Given the description of an element on the screen output the (x, y) to click on. 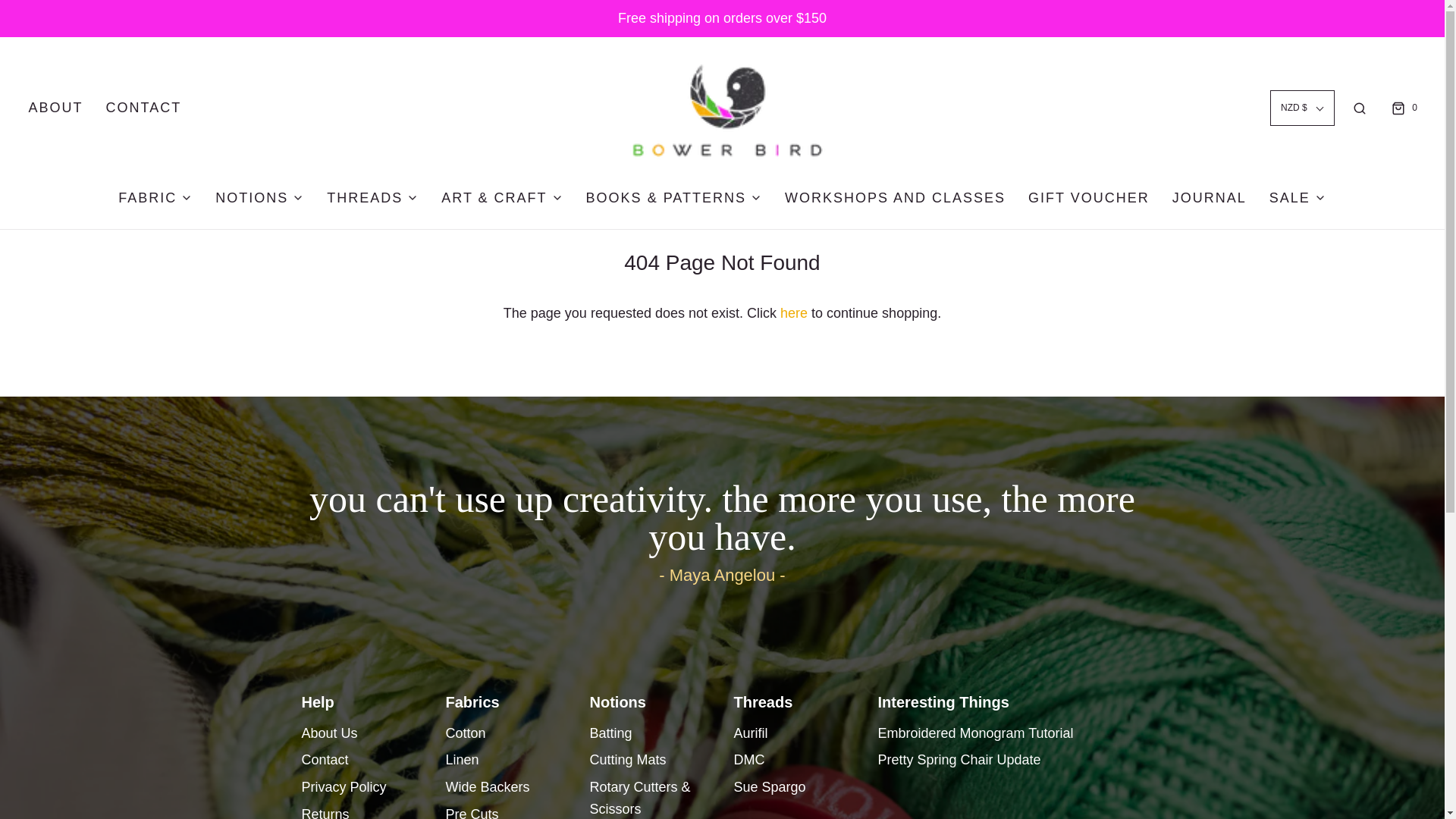
Cart (1403, 107)
Search (1359, 107)
